Given the description of an element on the screen output the (x, y) to click on. 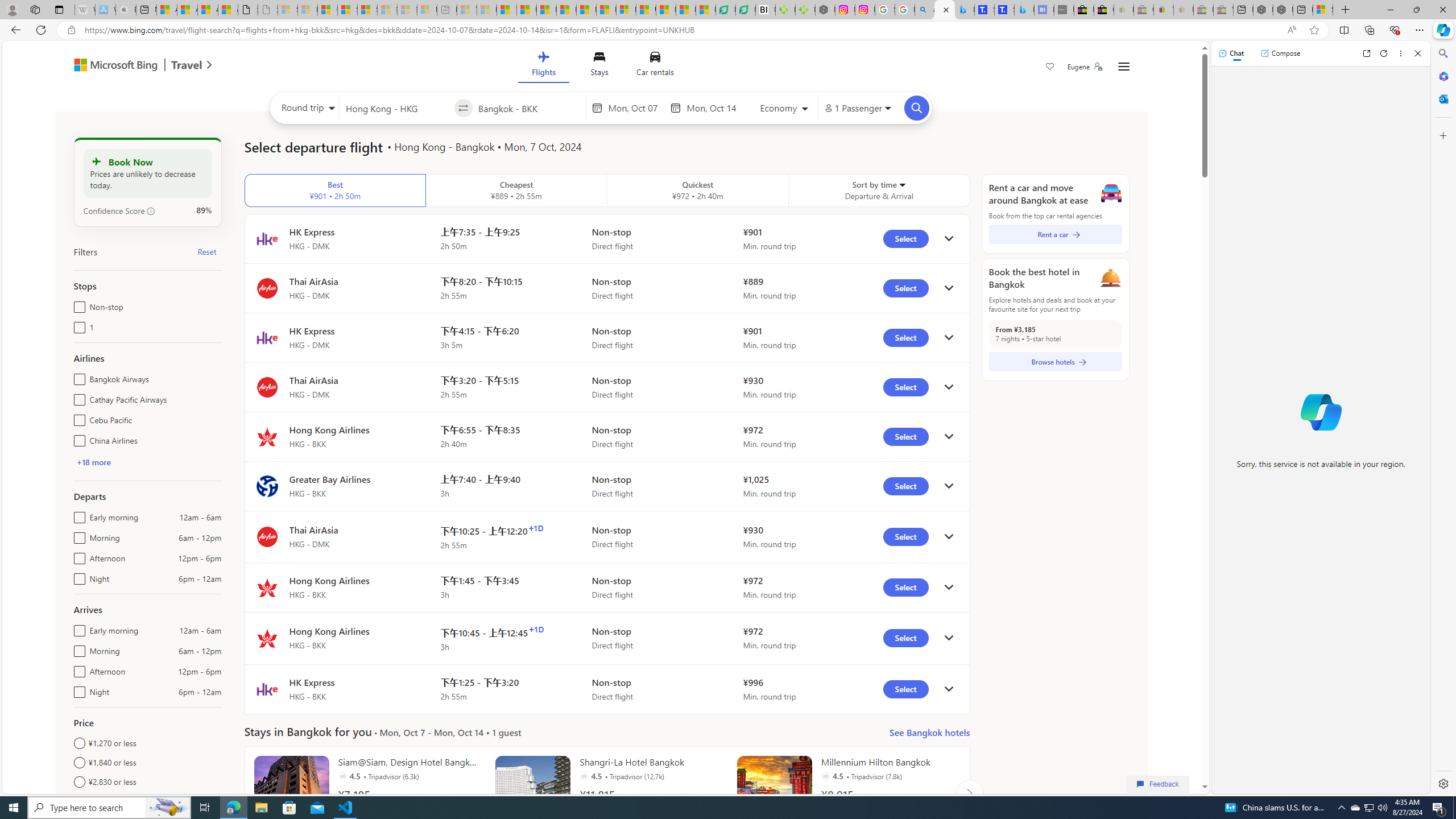
Early morning12am - 6am (76, 628)
Bangkok Airways (76, 376)
Eugene (1084, 66)
Flights (542, 65)
Tripadvisor (825, 775)
Travel (186, 65)
